Given the description of an element on the screen output the (x, y) to click on. 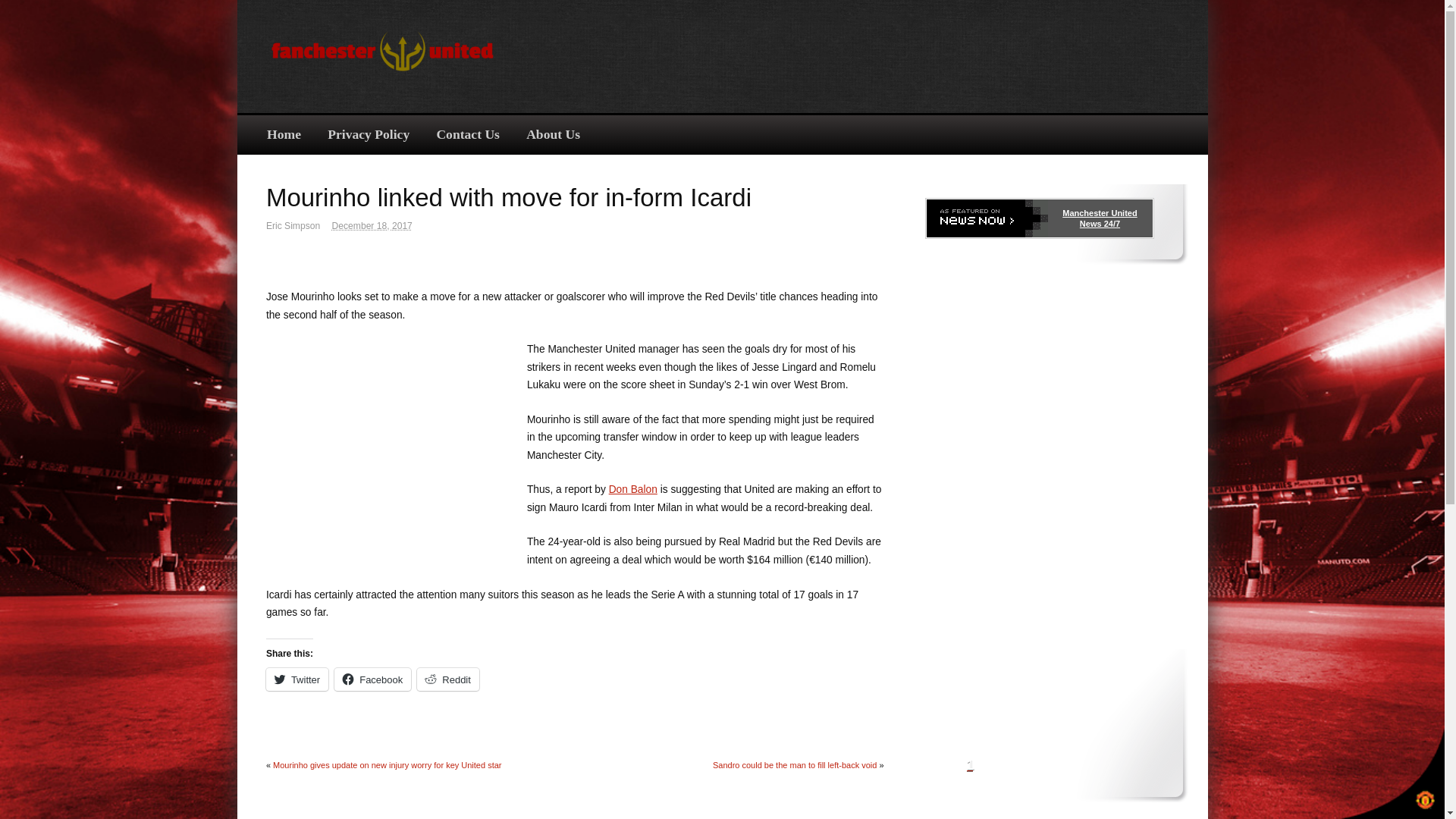
Click to share on Reddit (447, 679)
Privacy Policy (368, 135)
Home (283, 135)
Advertisement (901, 53)
Facebook (372, 679)
Click to share on Twitter (297, 679)
Posts by Eric Simpson (293, 225)
1 (966, 764)
Don Balon (633, 489)
Fanchester United (382, 79)
About Us (553, 135)
2017-12-18T00:02:32-05:00 (371, 225)
